Given the description of an element on the screen output the (x, y) to click on. 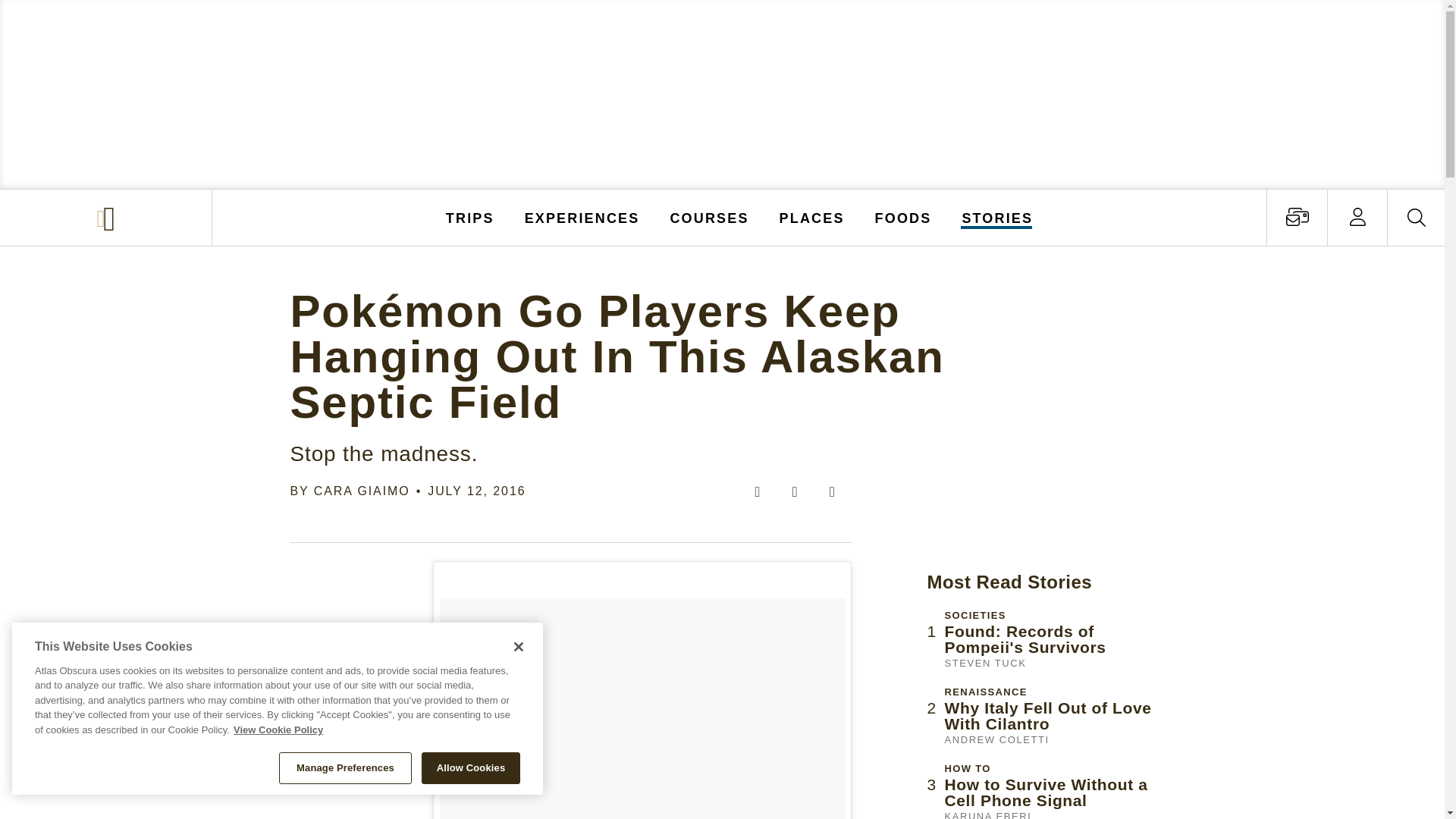
PLACES (812, 217)
TRIPS (469, 217)
EXPERIENCES (582, 217)
COURSES (707, 217)
